Given the description of an element on the screen output the (x, y) to click on. 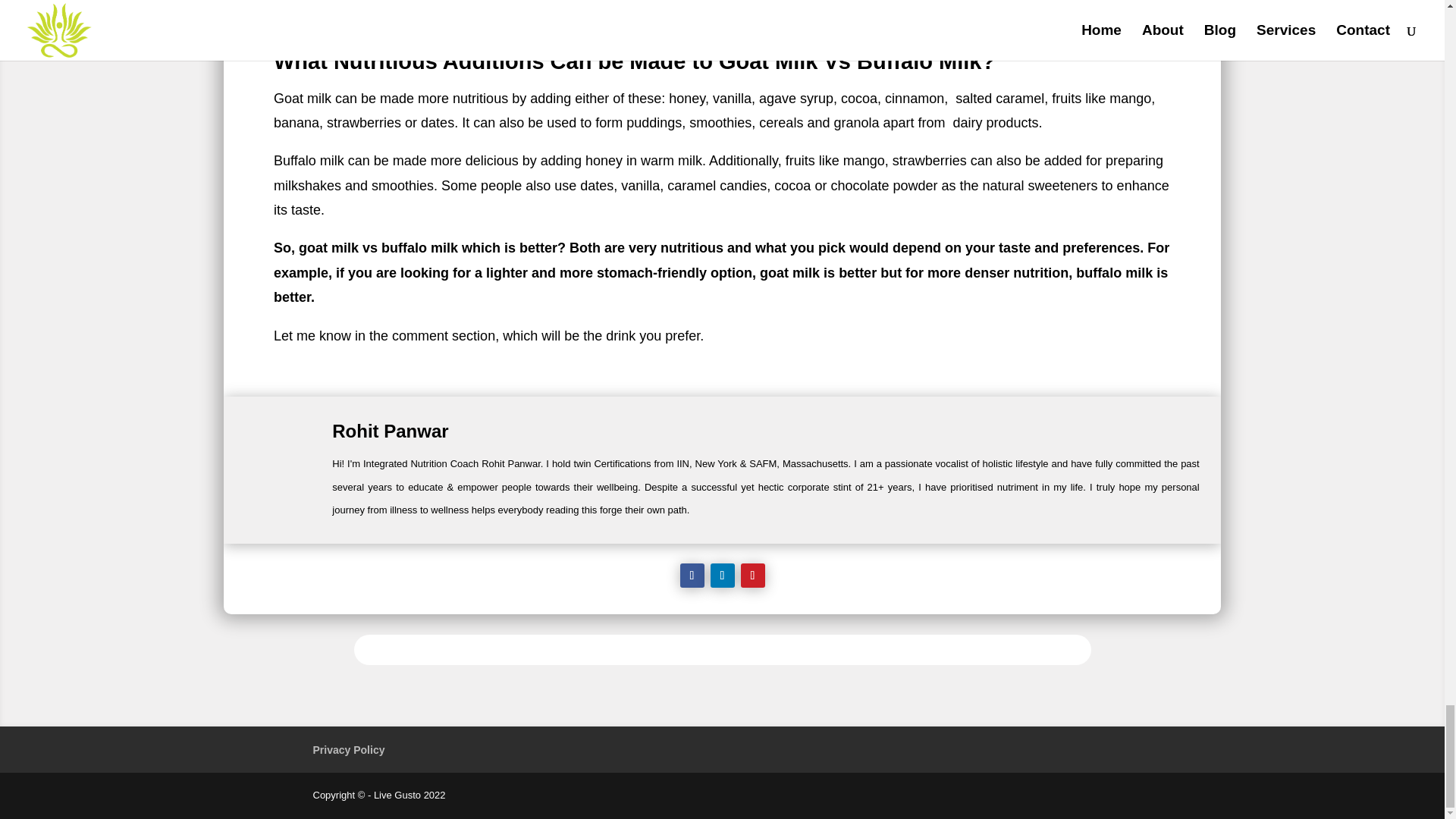
Follow on Pinterest (751, 575)
Follow on Facebook (691, 575)
Privacy Policy (348, 749)
Follow on LinkedIn (721, 575)
Rohit Panwar (389, 430)
